Given the description of an element on the screen output the (x, y) to click on. 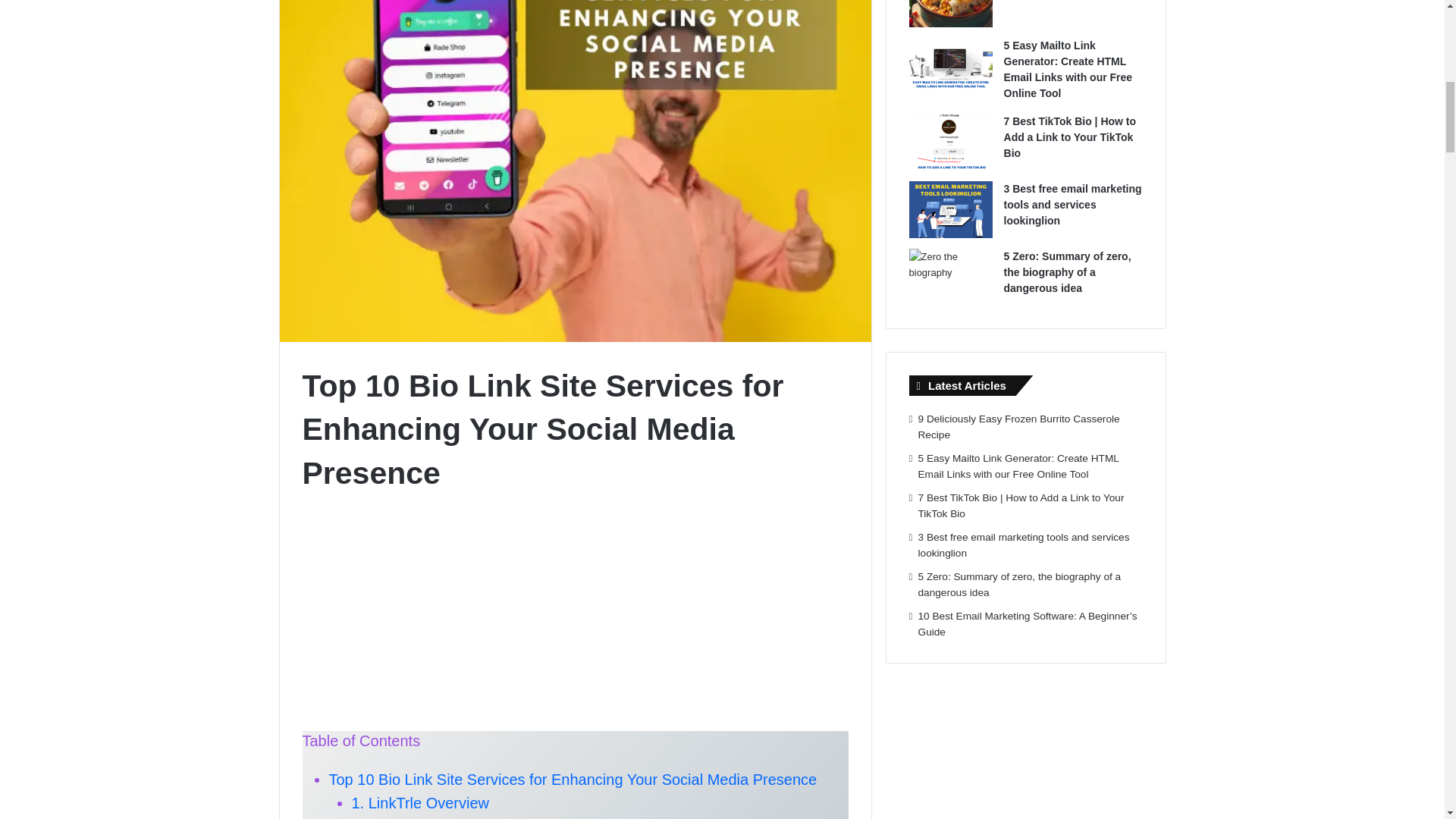
1. LinkTrle Overview (420, 802)
Linktree (379, 818)
